Given the description of an element on the screen output the (x, y) to click on. 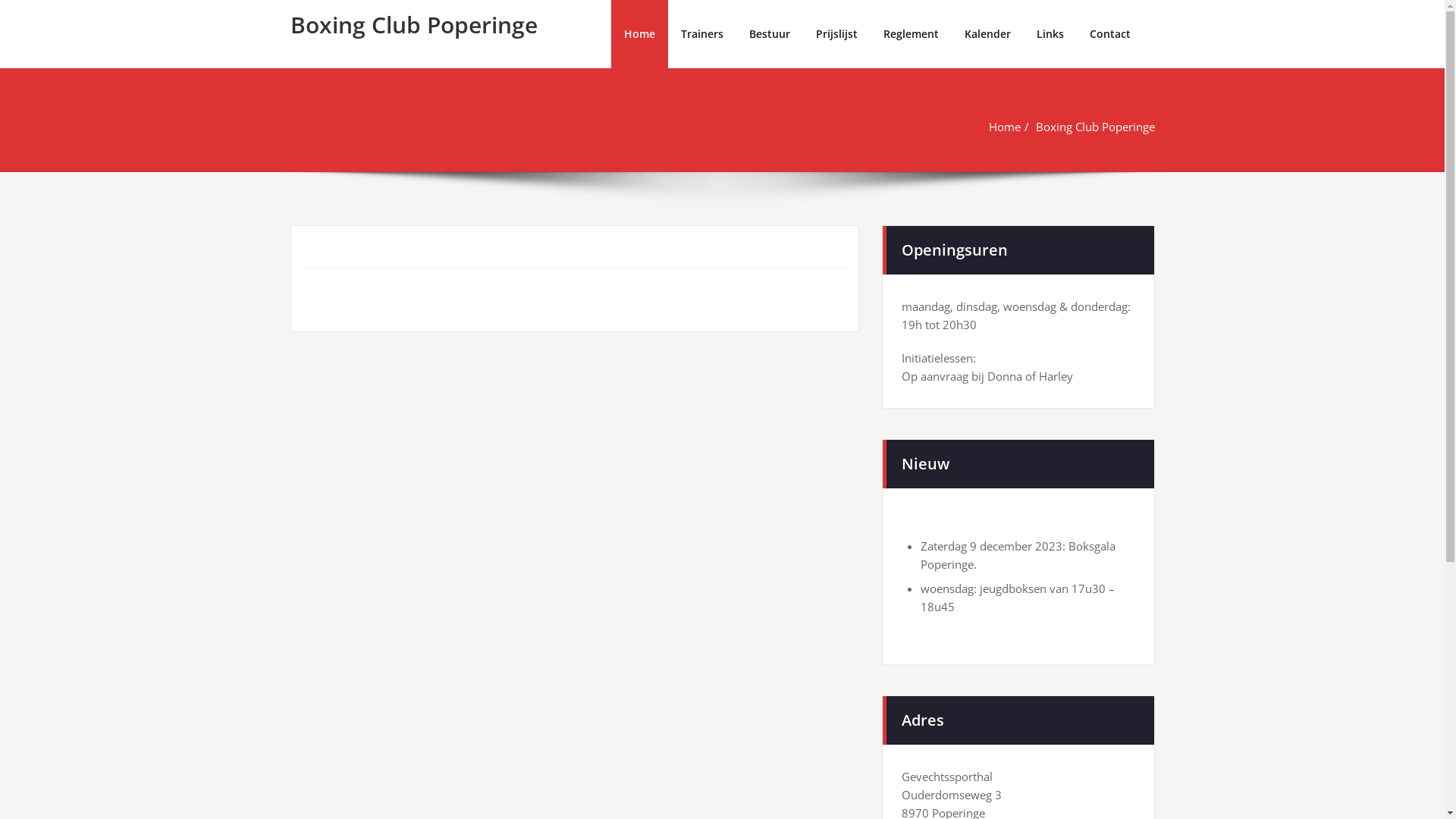
Boxing Club Poperinge Element type: text (1094, 126)
Bestuur Element type: text (768, 34)
Home Element type: text (639, 34)
Home Element type: text (1004, 126)
Contact Element type: text (1109, 34)
Reglement Element type: text (910, 34)
Links Element type: text (1049, 34)
Doorgaan naar artikel Element type: text (0, 0)
Boxing Club Poperinge Element type: text (412, 24)
Trainers Element type: text (701, 34)
Prijslijst Element type: text (835, 34)
Kalender Element type: text (986, 34)
